Given the description of an element on the screen output the (x, y) to click on. 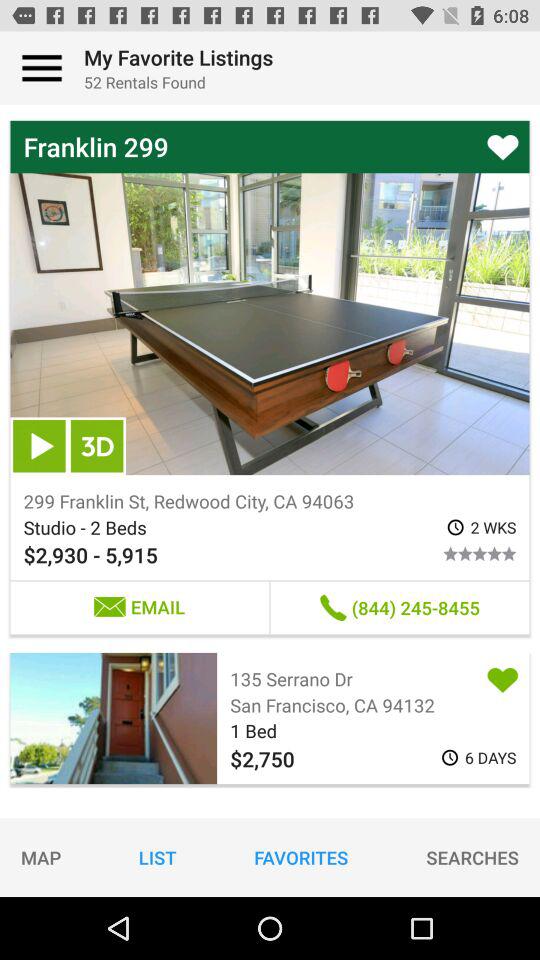
open the item at the top left corner (41, 68)
